Given the description of an element on the screen output the (x, y) to click on. 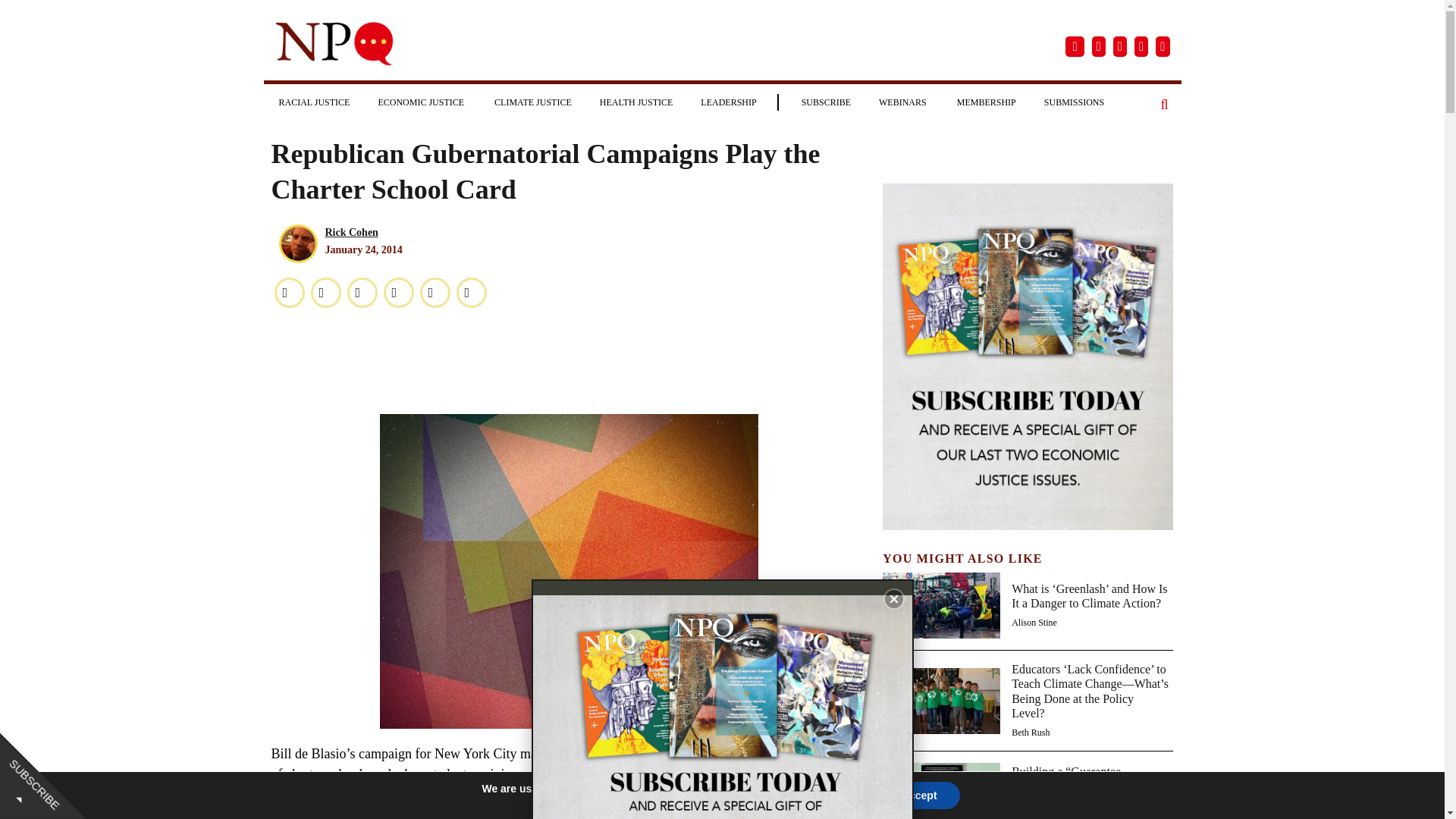
MEMBERSHIP (986, 102)
Racial Justice (314, 102)
Submissions (1074, 102)
Facebook (288, 292)
Subscribe (826, 102)
SUBSCRIBE (826, 102)
HEALTH JUSTICE (636, 102)
Rick Cohen (350, 232)
WEBINARS (903, 102)
CLIMATE JUSTICE (532, 102)
RACIAL JUSTICE (314, 102)
LEADERSHIP (727, 102)
Leadership (727, 102)
Search (1164, 104)
Economic Justice (421, 102)
